Given the description of an element on the screen output the (x, y) to click on. 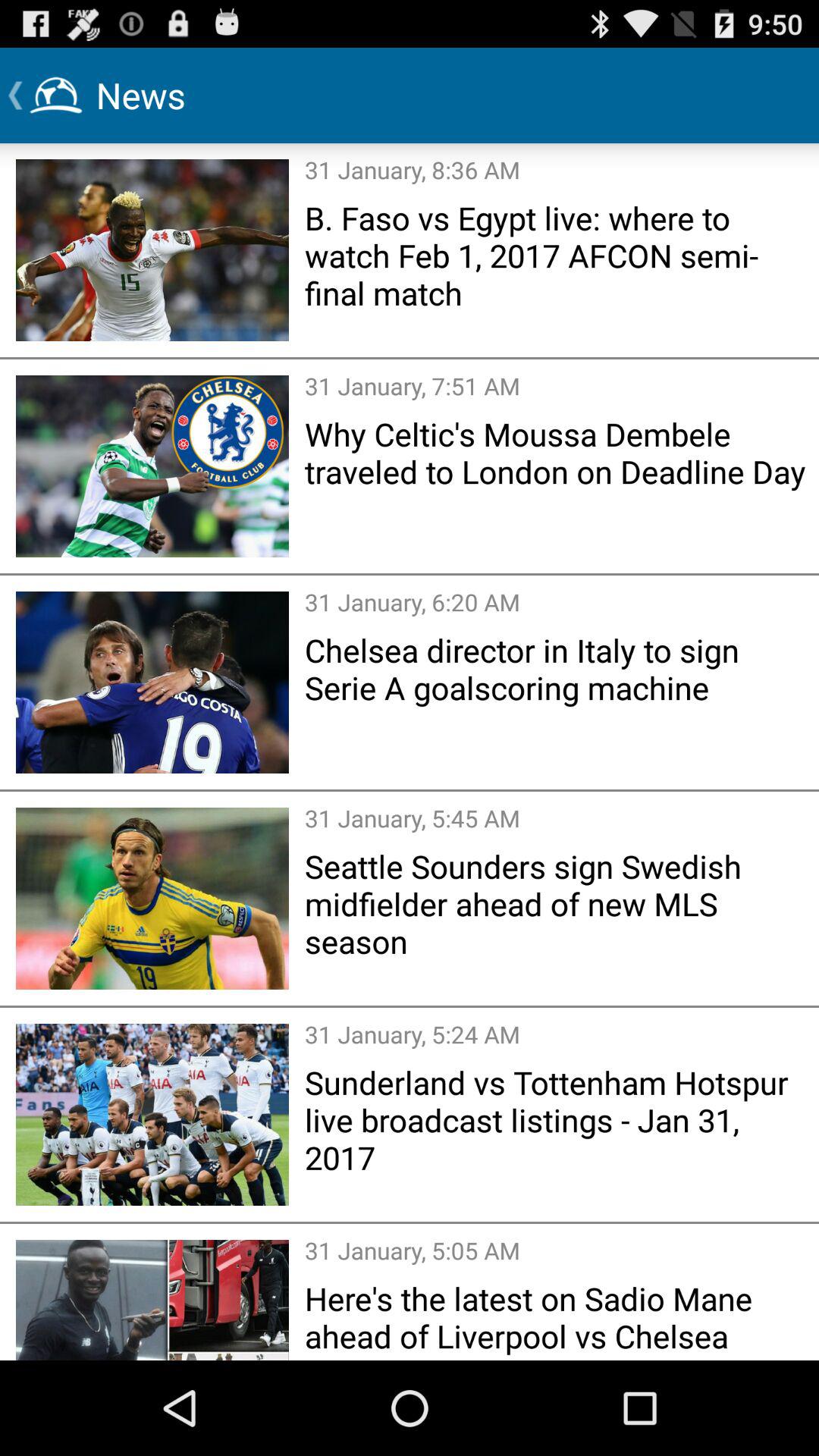
turn off item below the 31 january 5 (556, 903)
